Given the description of an element on the screen output the (x, y) to click on. 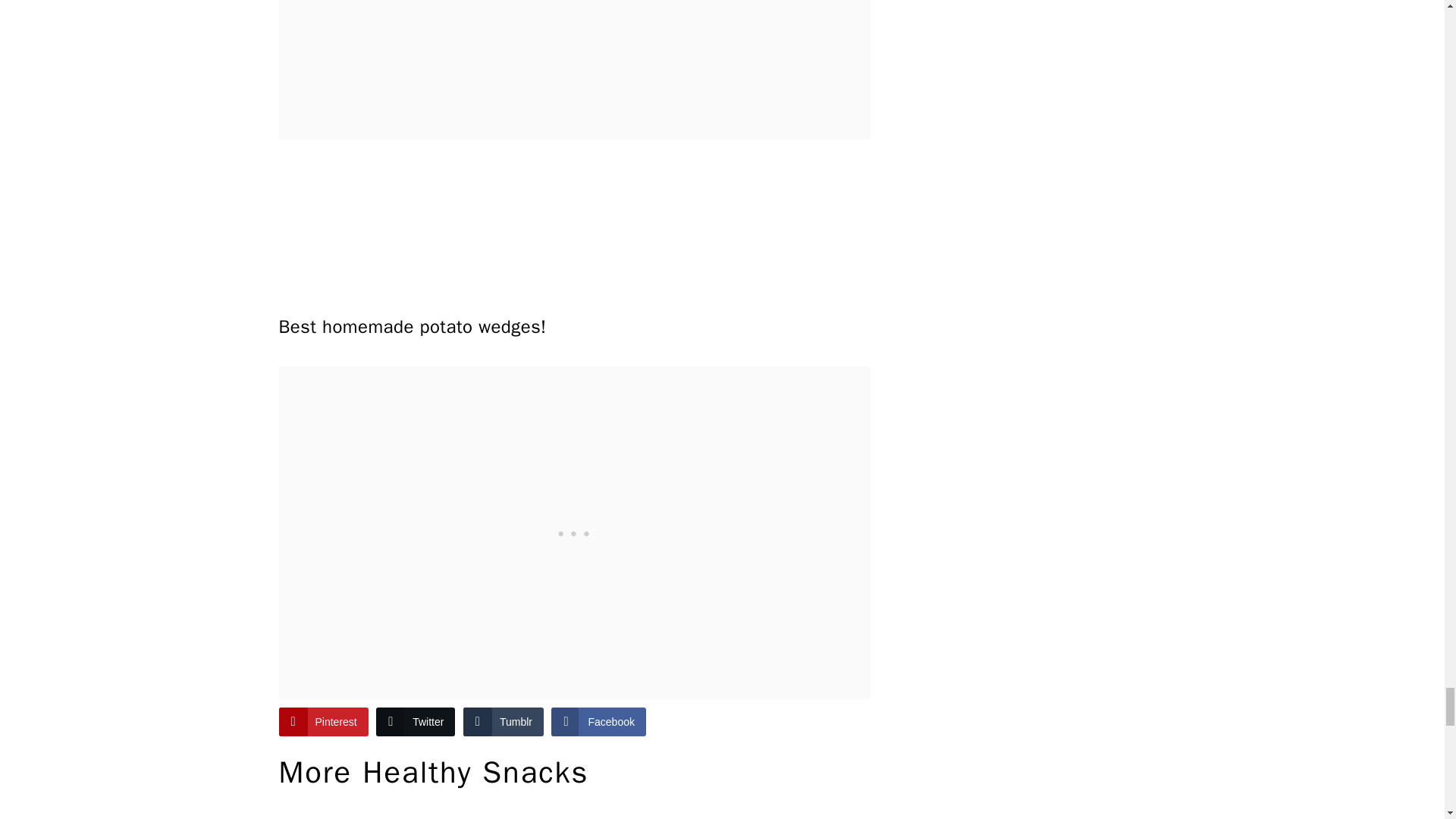
Facebook (598, 721)
Tumblr (503, 721)
Shrimp Rangoon (347, 812)
Twitter (414, 721)
Pinterest (323, 721)
Spicy Salmon Rice Muffins (498, 812)
Texas Roadhouse Croutons Recipe (800, 812)
Easy Air Fryer Shishito Peppers (649, 812)
